Given the description of an element on the screen output the (x, y) to click on. 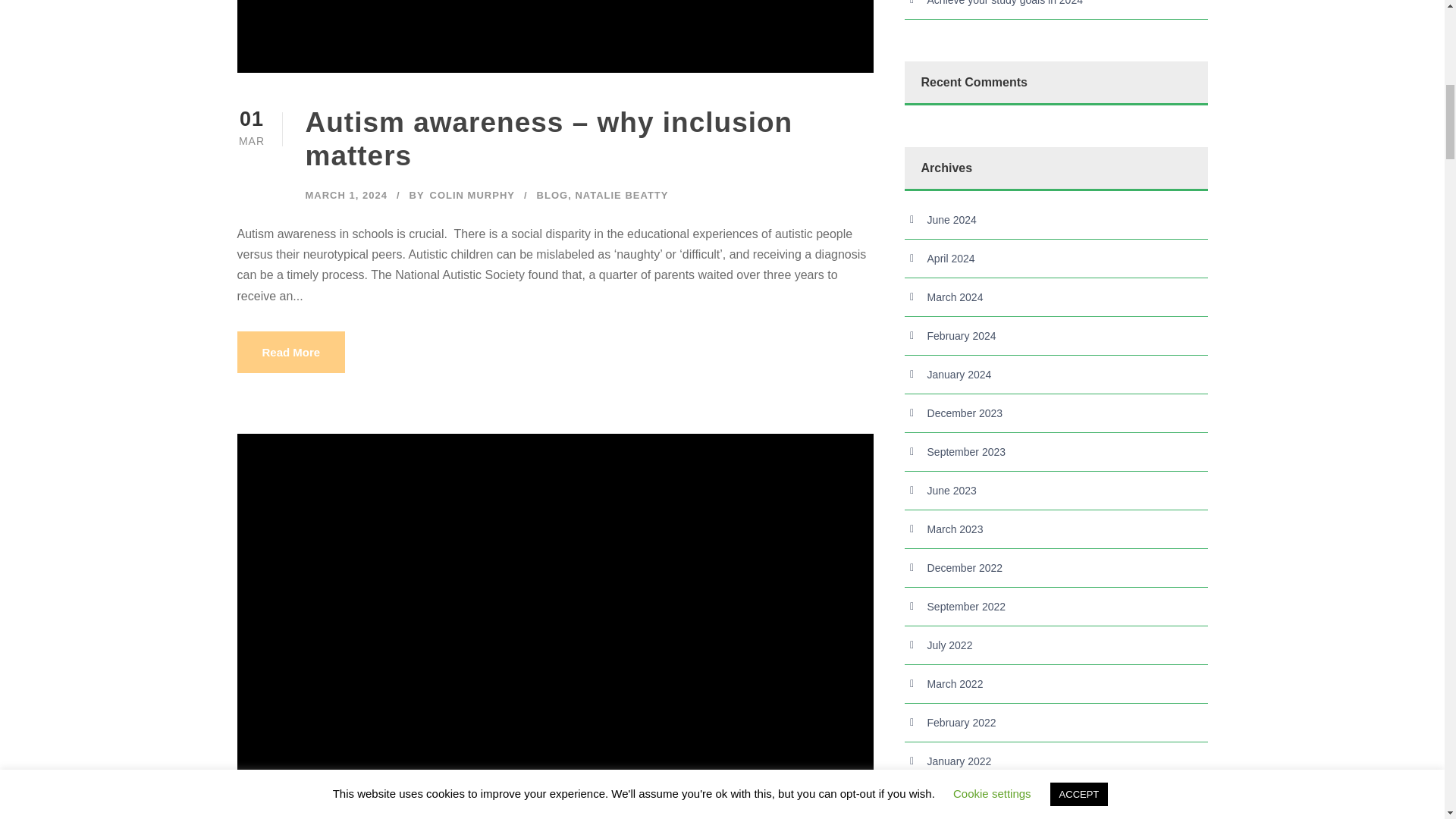
Posts by Colin Murphy (472, 194)
